Given the description of an element on the screen output the (x, y) to click on. 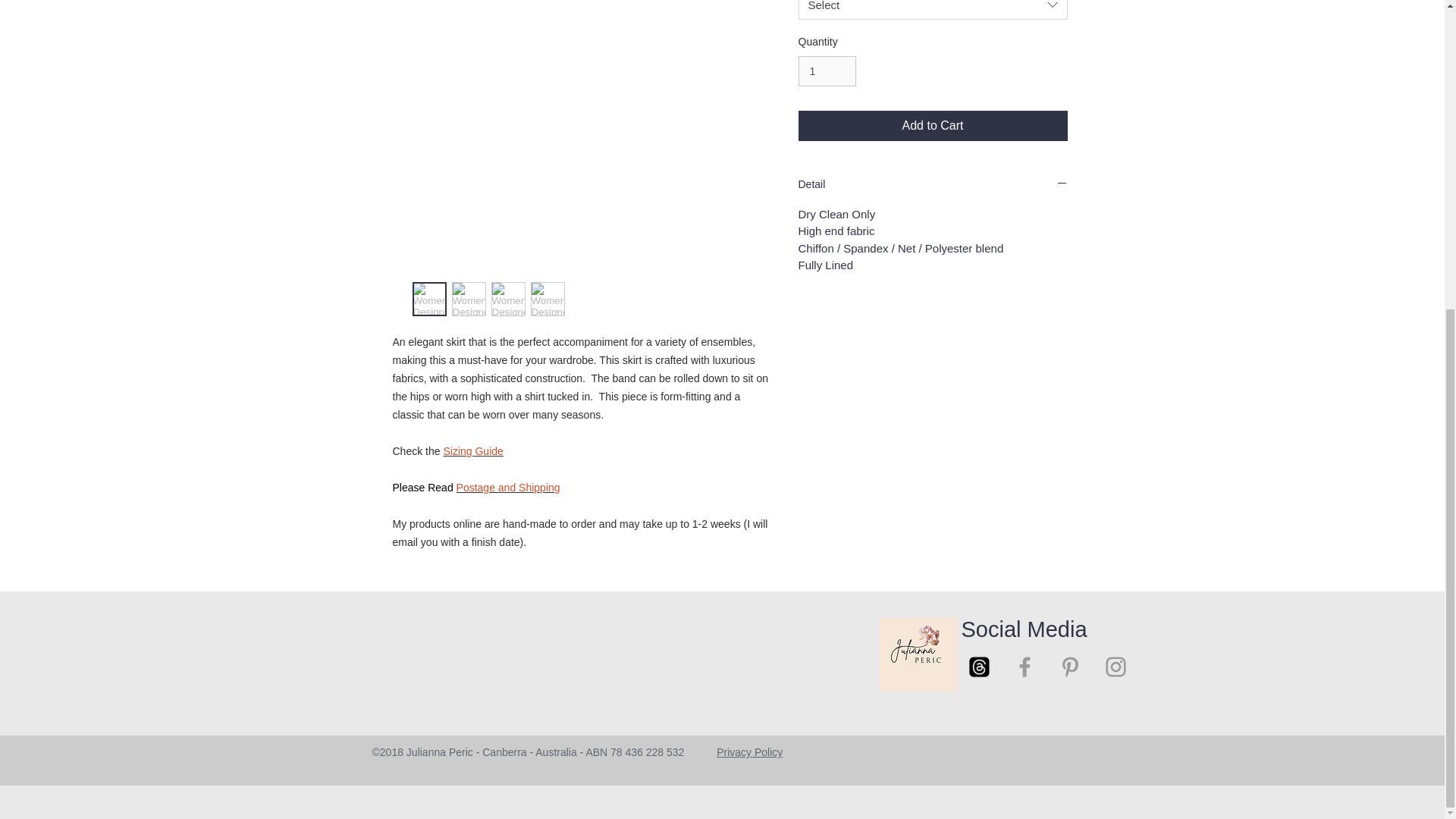
Detail (932, 185)
Privacy Policy (749, 752)
Postage and Shipping (508, 487)
Select (932, 9)
Sizing Guide (472, 451)
Add to Cart (932, 125)
1 (826, 71)
